Given the description of an element on the screen output the (x, y) to click on. 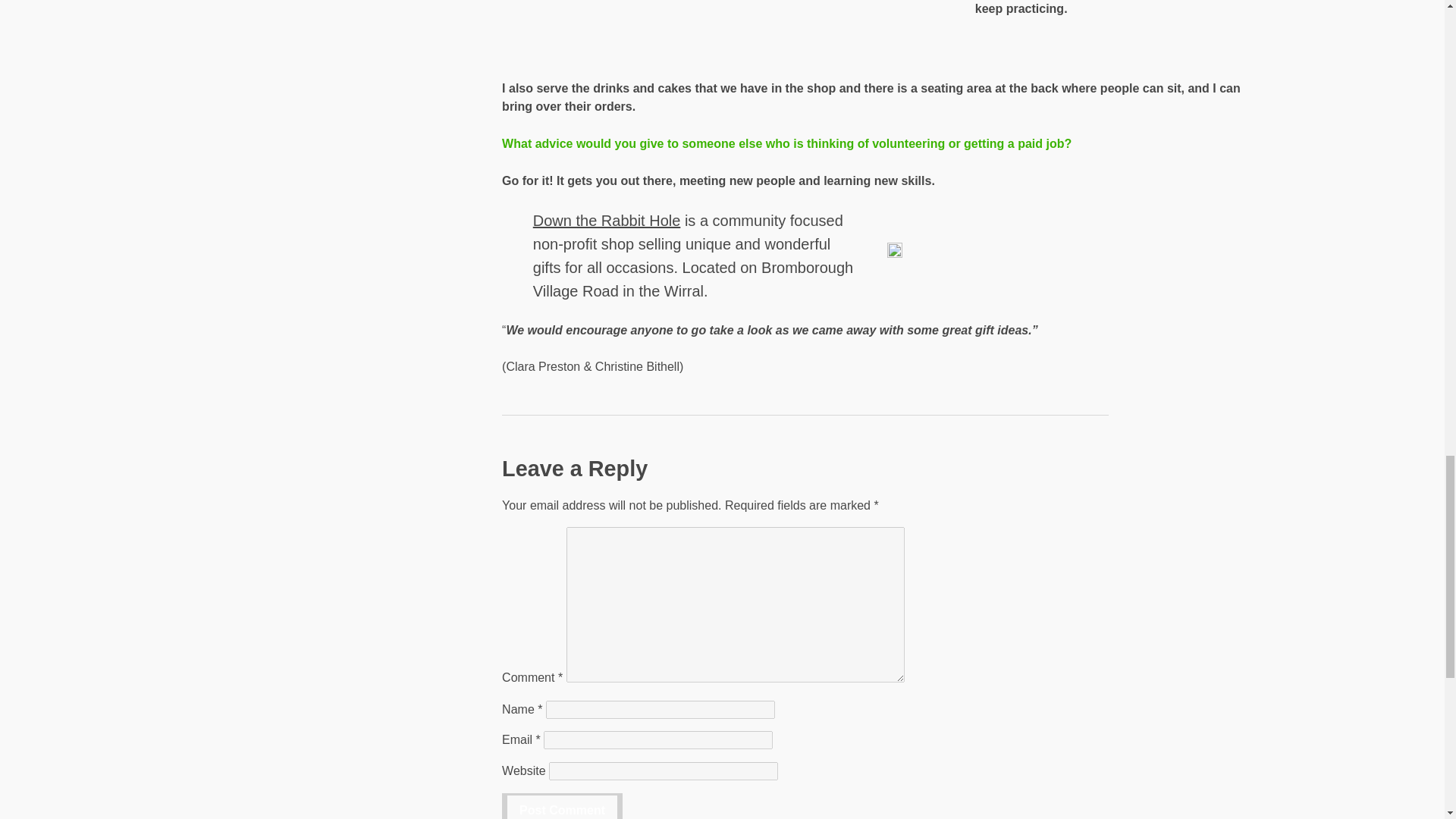
Down the Rabbit Hole (606, 220)
Post Comment (562, 806)
Post Comment (562, 806)
